Given the description of an element on the screen output the (x, y) to click on. 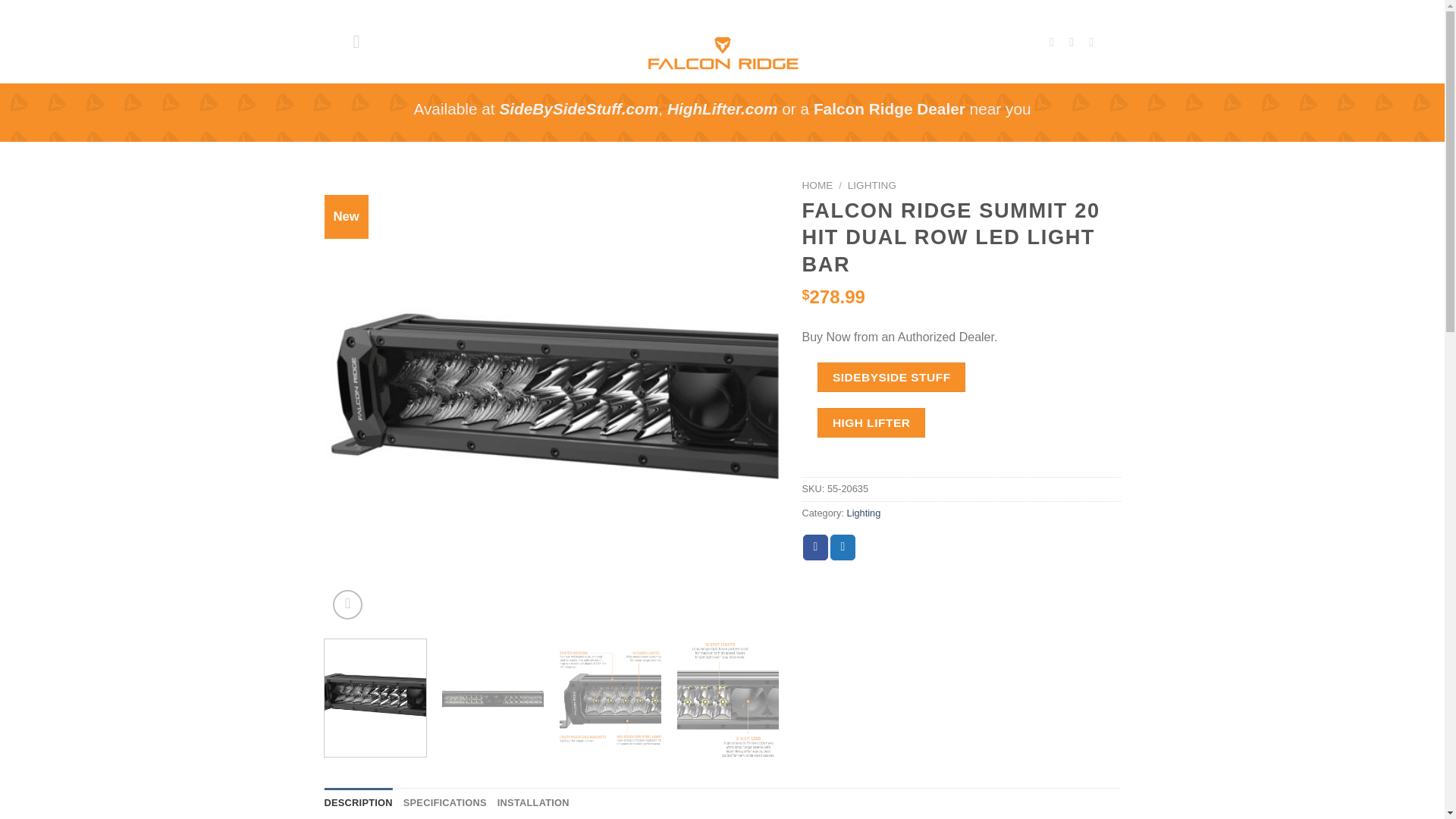
Follow on Facebook (1055, 41)
SideBySideStuff.com (578, 108)
HighLifter.com (721, 108)
Falcon Ridge - Accessories for UTVs and Side-by-Sides (721, 42)
HOME (817, 184)
